Given the description of an element on the screen output the (x, y) to click on. 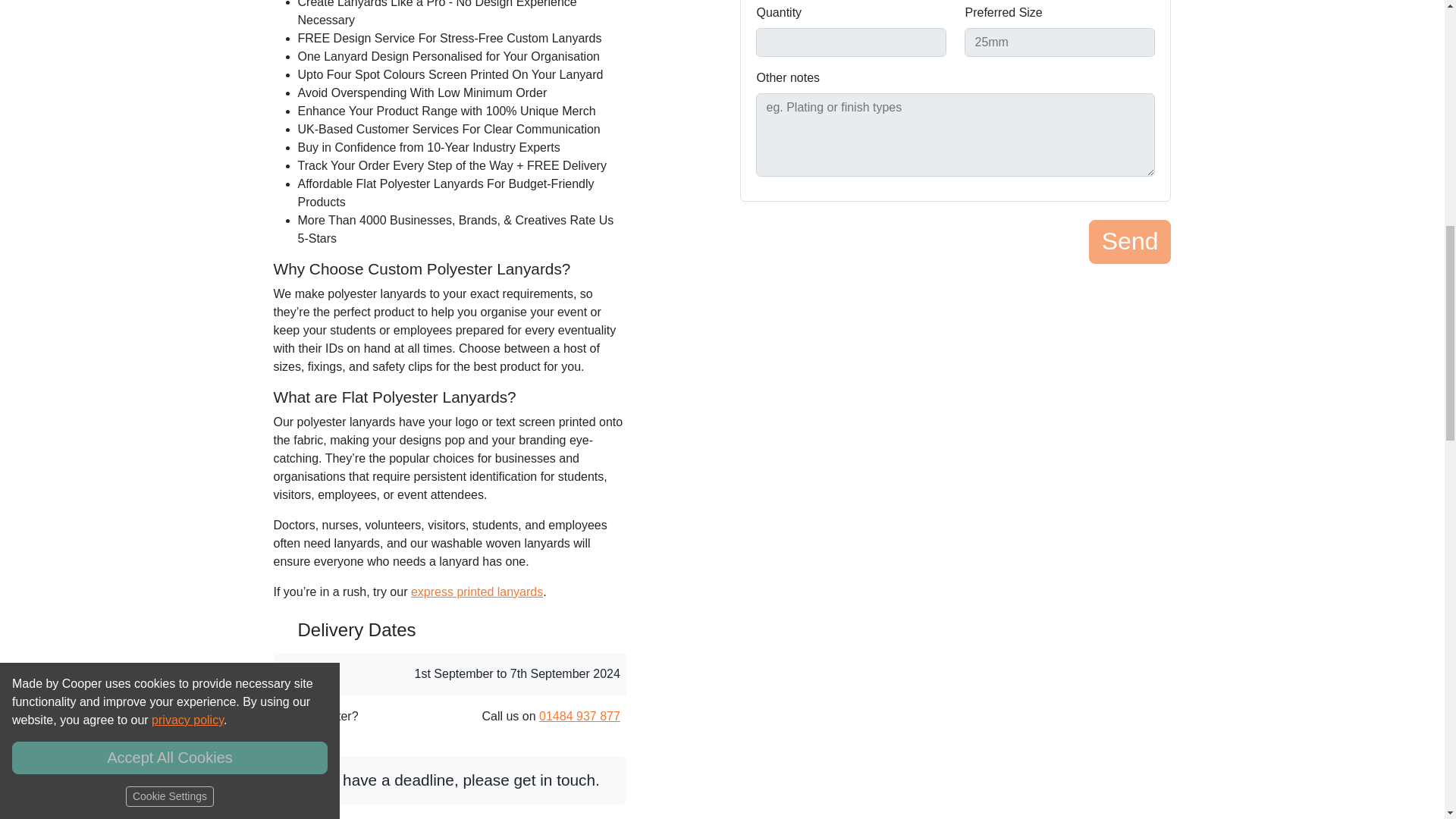
01484 937 877 (579, 716)
express printed lanyards (476, 591)
Send (1130, 241)
